Given the description of an element on the screen output the (x, y) to click on. 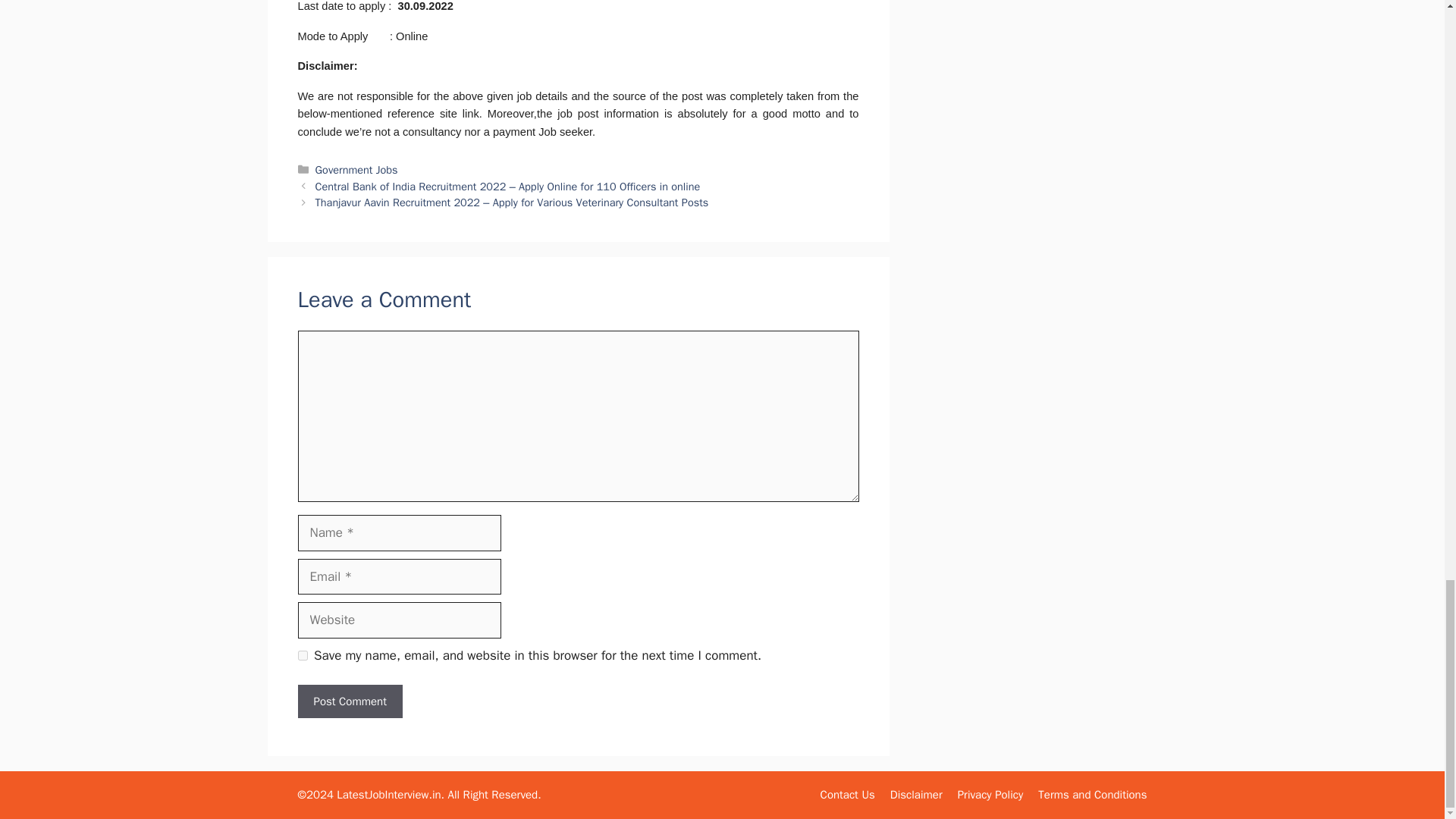
yes (302, 655)
Government Jobs (356, 169)
Post Comment (349, 701)
Post Comment (349, 701)
